Given the description of an element on the screen output the (x, y) to click on. 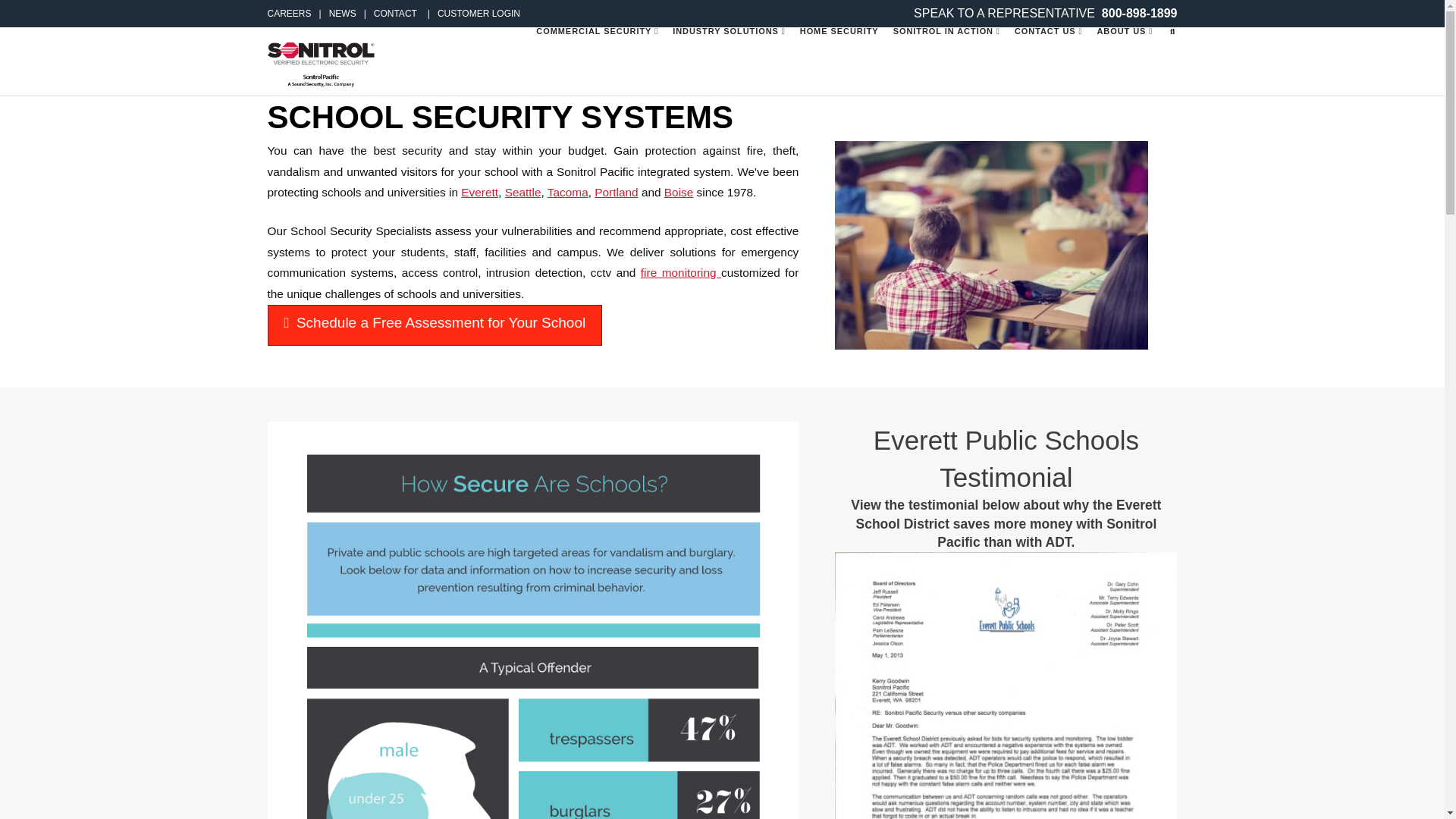
CUSTOMER LOGIN (469, 13)
NEWS (333, 13)
COMMERCIAL SECURITY (596, 61)
SPEAK TO A REPRESENTATIVE  800-898-1899 (1045, 12)
SONITROL IN ACTION (946, 61)
INDUSTRY SOLUTIONS (728, 61)
CAREERS (288, 13)
HOME SECURITY (838, 61)
CONTACT (386, 13)
